Given the description of an element on the screen output the (x, y) to click on. 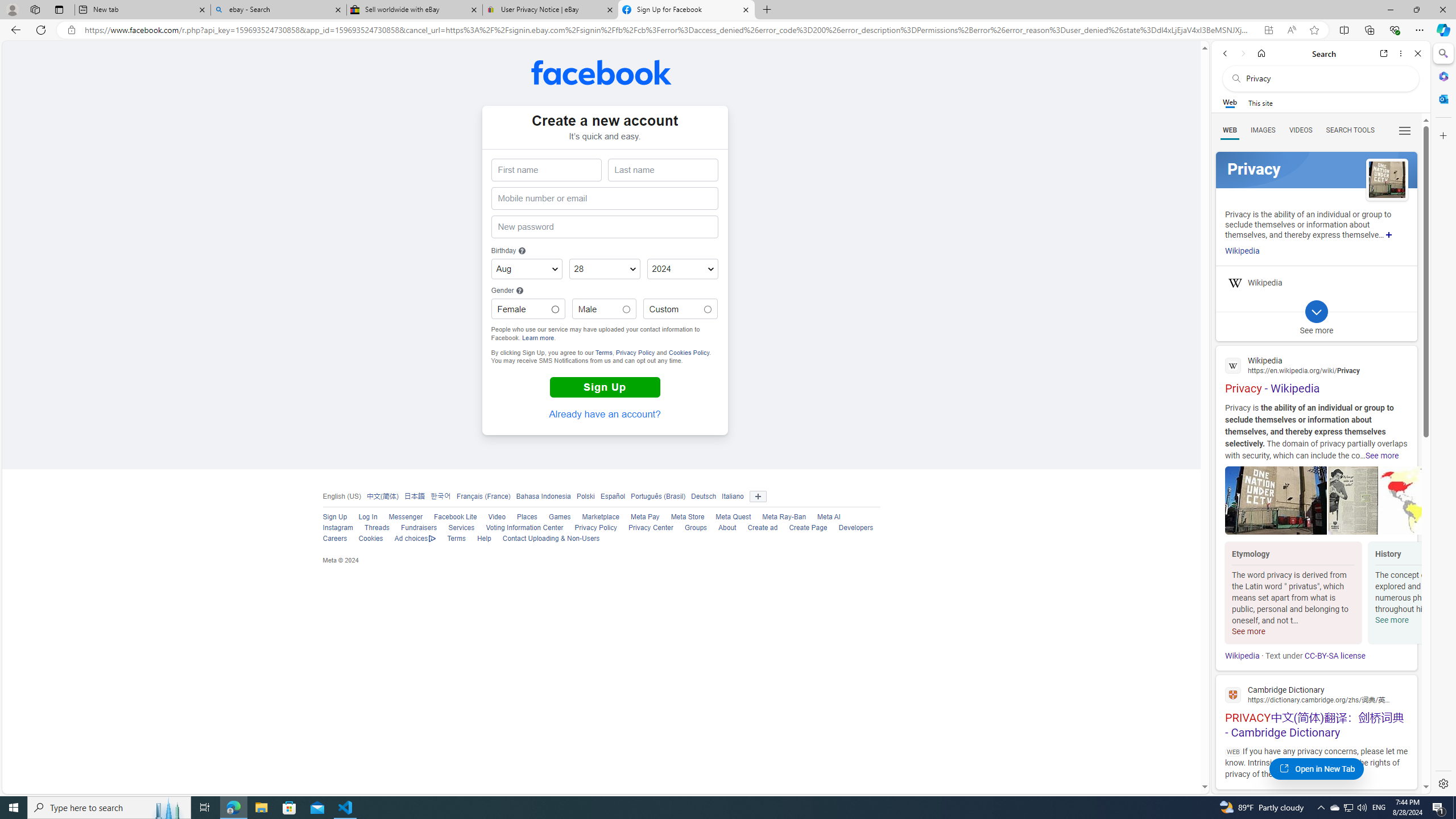
Privacy - Wikipedia (1315, 373)
Threads (377, 528)
Sign Up (329, 517)
Voting Information Center (518, 527)
Mobile number or email (603, 198)
Outlook (1442, 98)
Sign Up (604, 387)
This site scope (1259, 102)
Search Filter, Search Tools (1350, 129)
Log In (367, 516)
Search Filter, WEB (1230, 129)
